Given the description of an element on the screen output the (x, y) to click on. 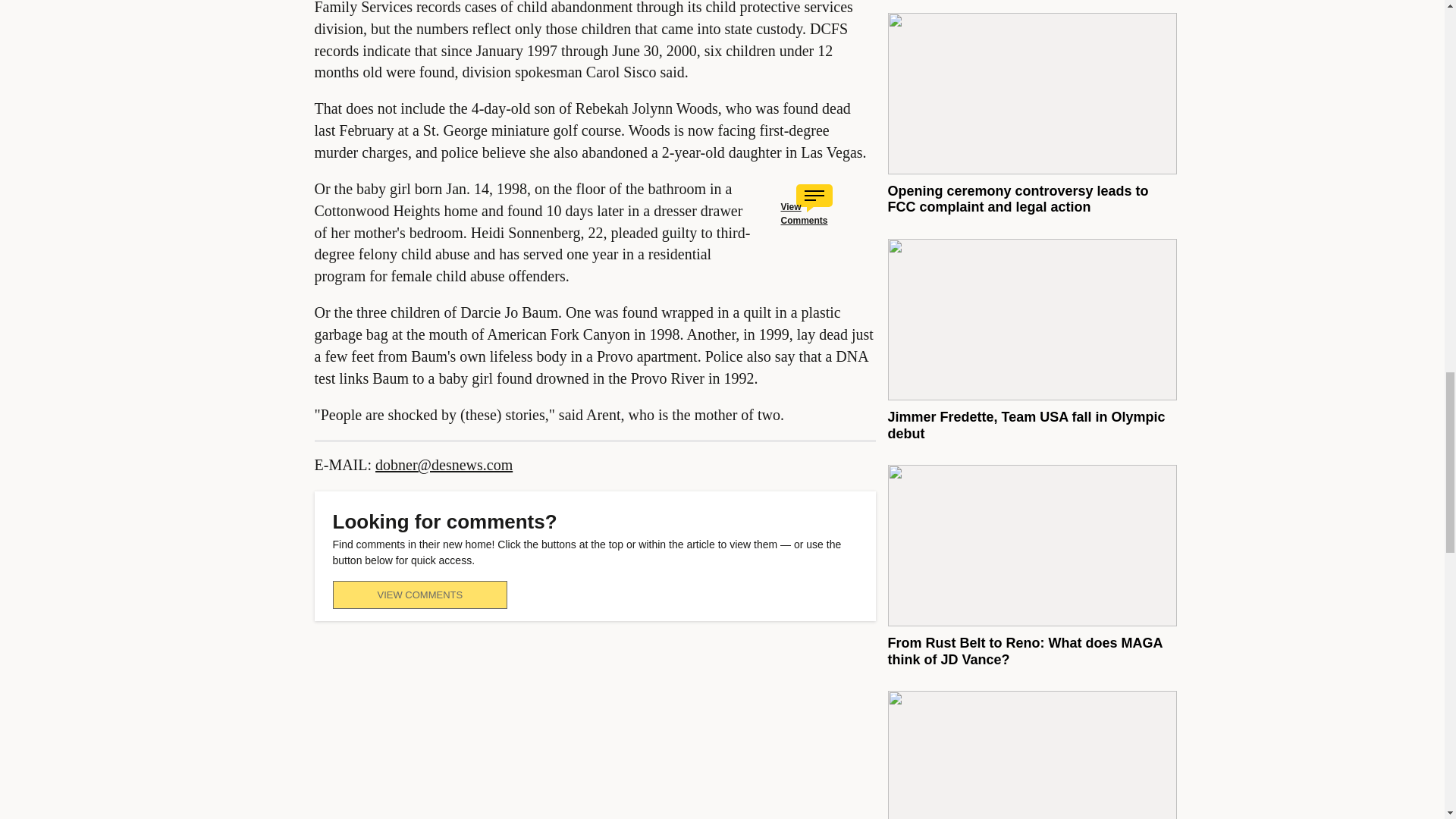
VIEW COMMENTS (418, 594)
